Given the description of an element on the screen output the (x, y) to click on. 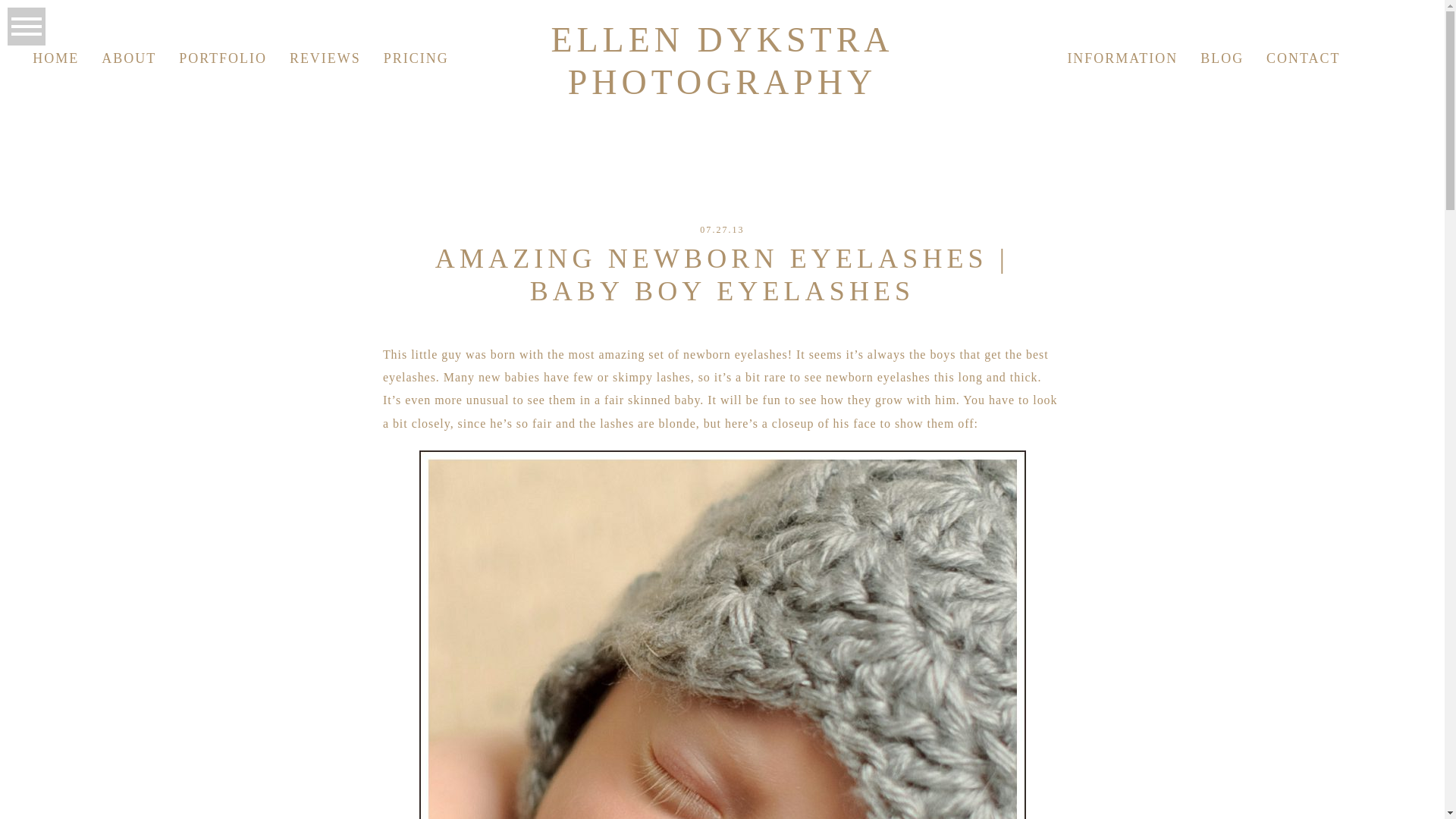
CONTACT (1302, 58)
PRICING (416, 58)
REVIEWS (325, 58)
INFORMATION (1122, 58)
PORTFOLIO (222, 58)
HOME (55, 58)
ABOUT (128, 58)
BLOG (1221, 58)
